Given the description of an element on the screen output the (x, y) to click on. 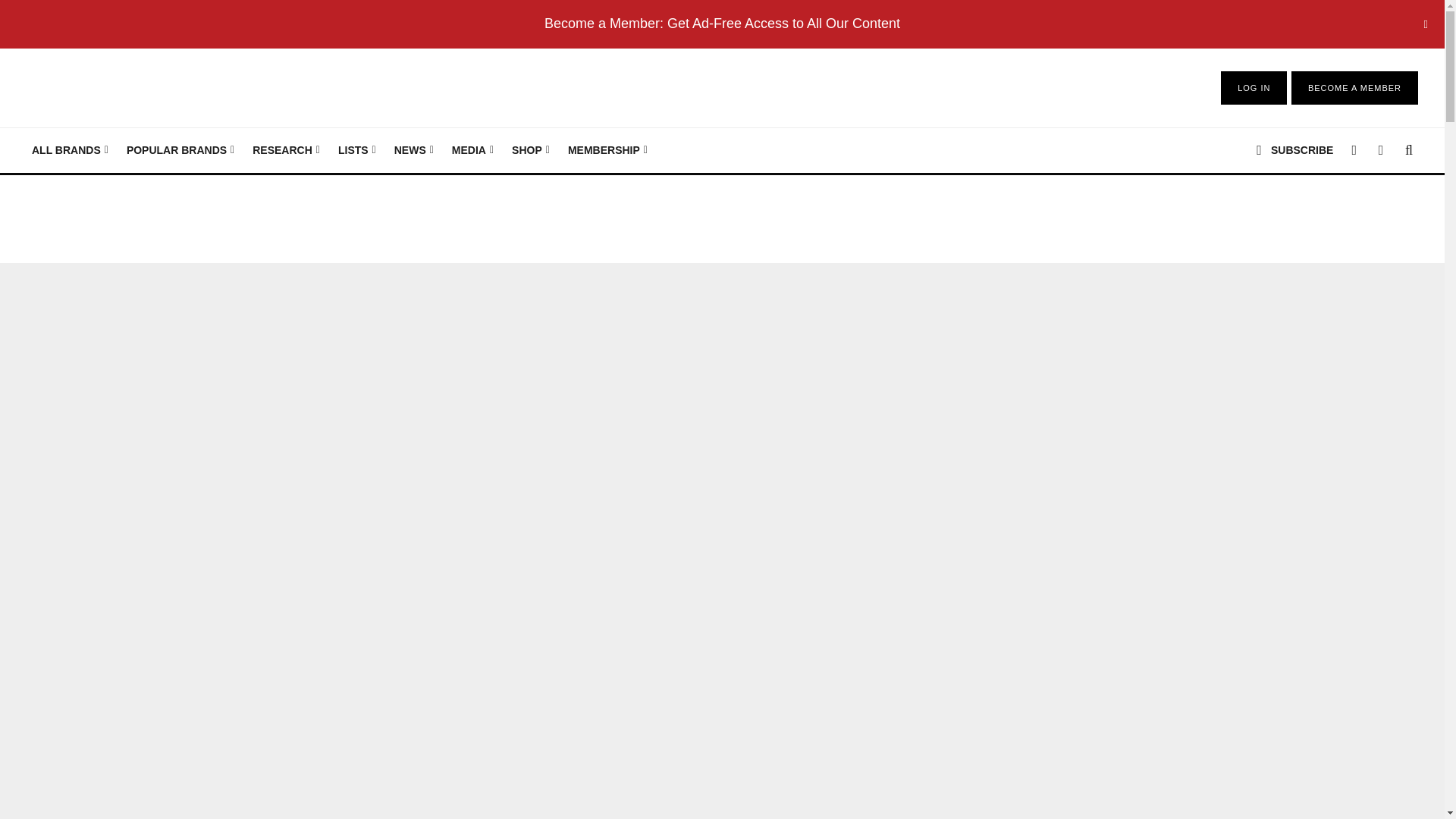
BECOME A MEMBER (1353, 87)
LOG IN (1253, 87)
ALL BRANDS (70, 149)
Become a Member: Get Ad-Free Access to All Our Content (721, 23)
Become a Member: Get Ad-Free Access to All Our Content (721, 23)
